Given the description of an element on the screen output the (x, y) to click on. 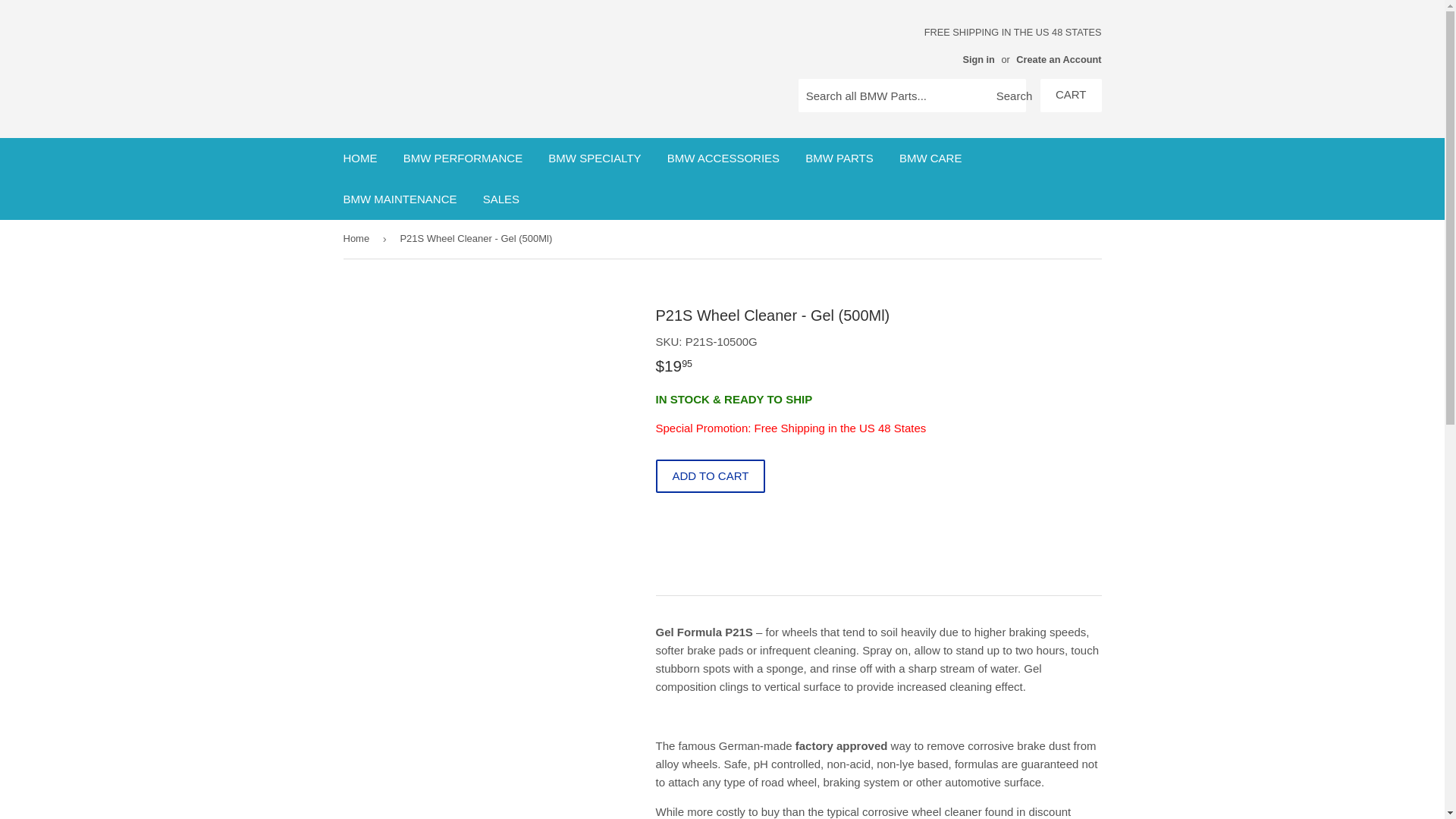
Search (1008, 96)
Create an Account (1058, 59)
Back to the frontpage (358, 239)
CART (1071, 95)
Sign in (978, 59)
